Given the description of an element on the screen output the (x, y) to click on. 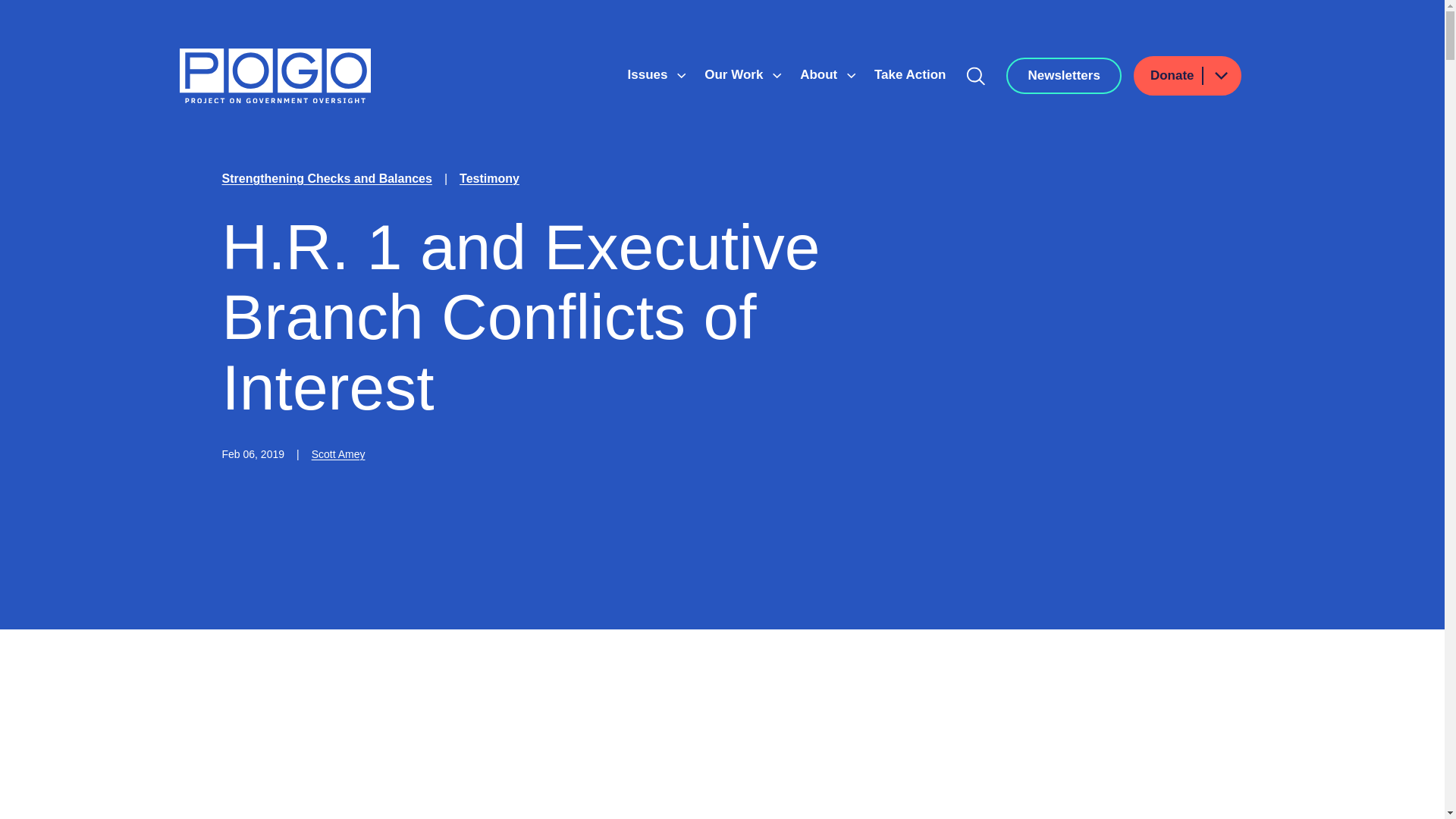
Donate (1187, 75)
Home (274, 75)
Search (976, 75)
Show submenu for Donate (1220, 75)
Issues (649, 74)
Take Action (909, 74)
About (820, 74)
Show submenu for Issues (681, 75)
Newsletters (1063, 75)
Show submenu for Our Work (777, 75)
